Given the description of an element on the screen output the (x, y) to click on. 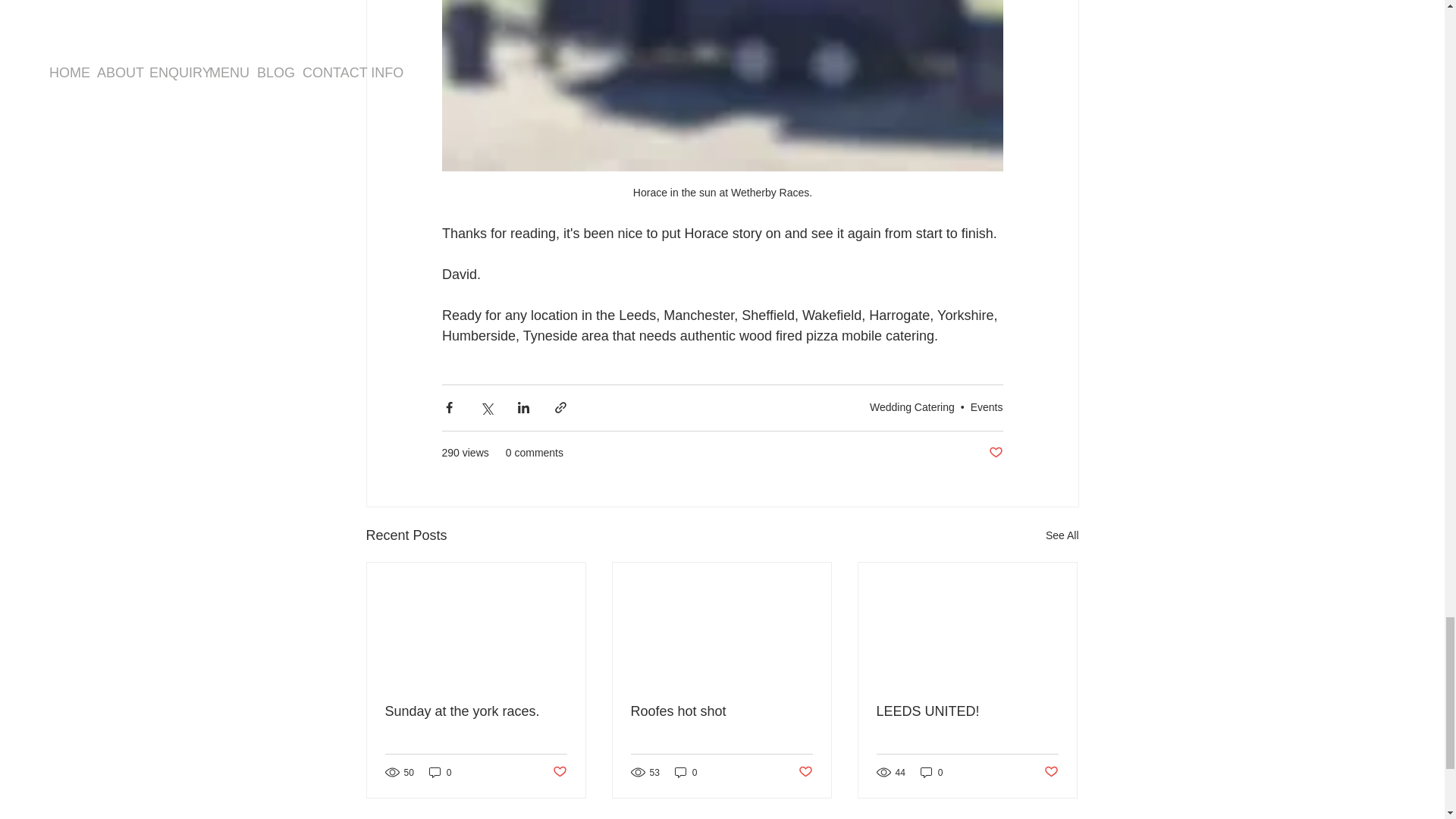
LEEDS UNITED! (967, 711)
Wedding Catering (912, 407)
0 (440, 771)
Post not marked as liked (1050, 772)
Sunday at the york races. (476, 711)
Roofes hot shot (721, 711)
Post not marked as liked (558, 772)
0 (931, 771)
Post not marked as liked (995, 453)
See All (1061, 535)
